Given the description of an element on the screen output the (x, y) to click on. 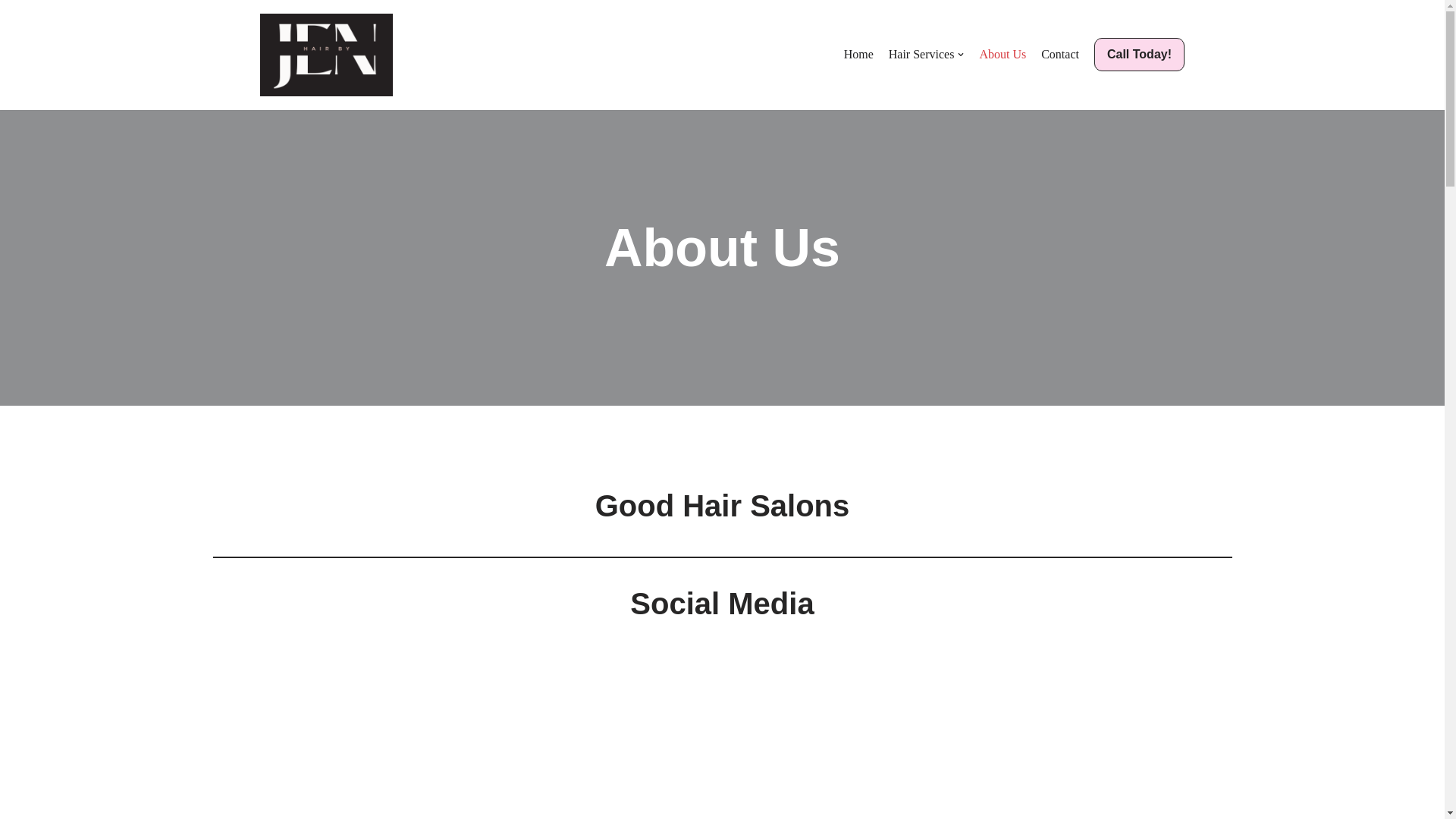
Hair Services (925, 54)
Contact (1059, 54)
Skip to content (11, 31)
Call Today! (1139, 54)
About Us (1002, 54)
Home (858, 54)
Hair By Jen B (326, 54)
